Given the description of an element on the screen output the (x, y) to click on. 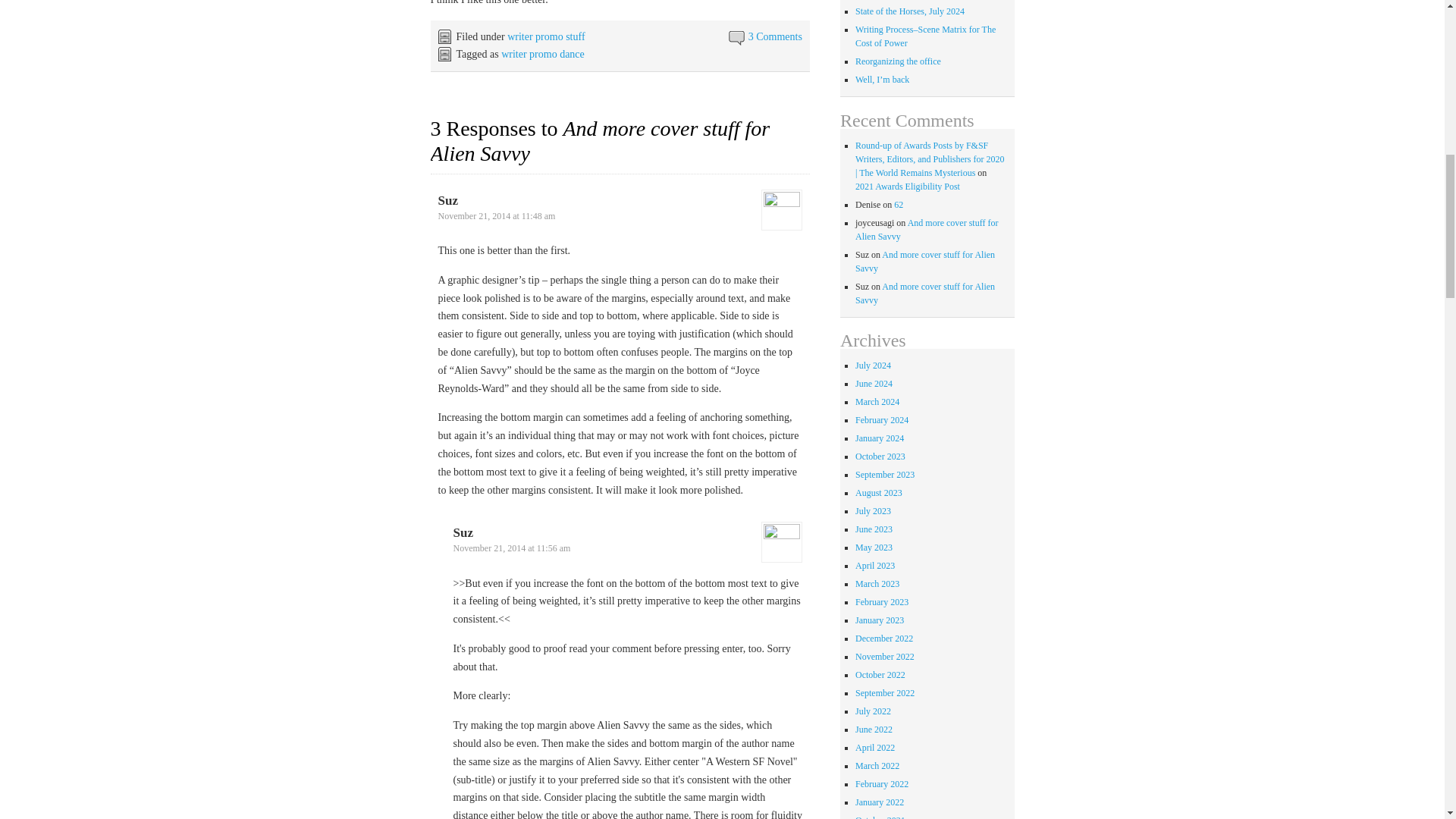
November 21, 2014 at 11:56 am (511, 547)
3 Comments (775, 36)
November 21, 2014 at 11:48 am (497, 215)
writer promo stuff (545, 36)
writer promo dance (542, 53)
